Given the description of an element on the screen output the (x, y) to click on. 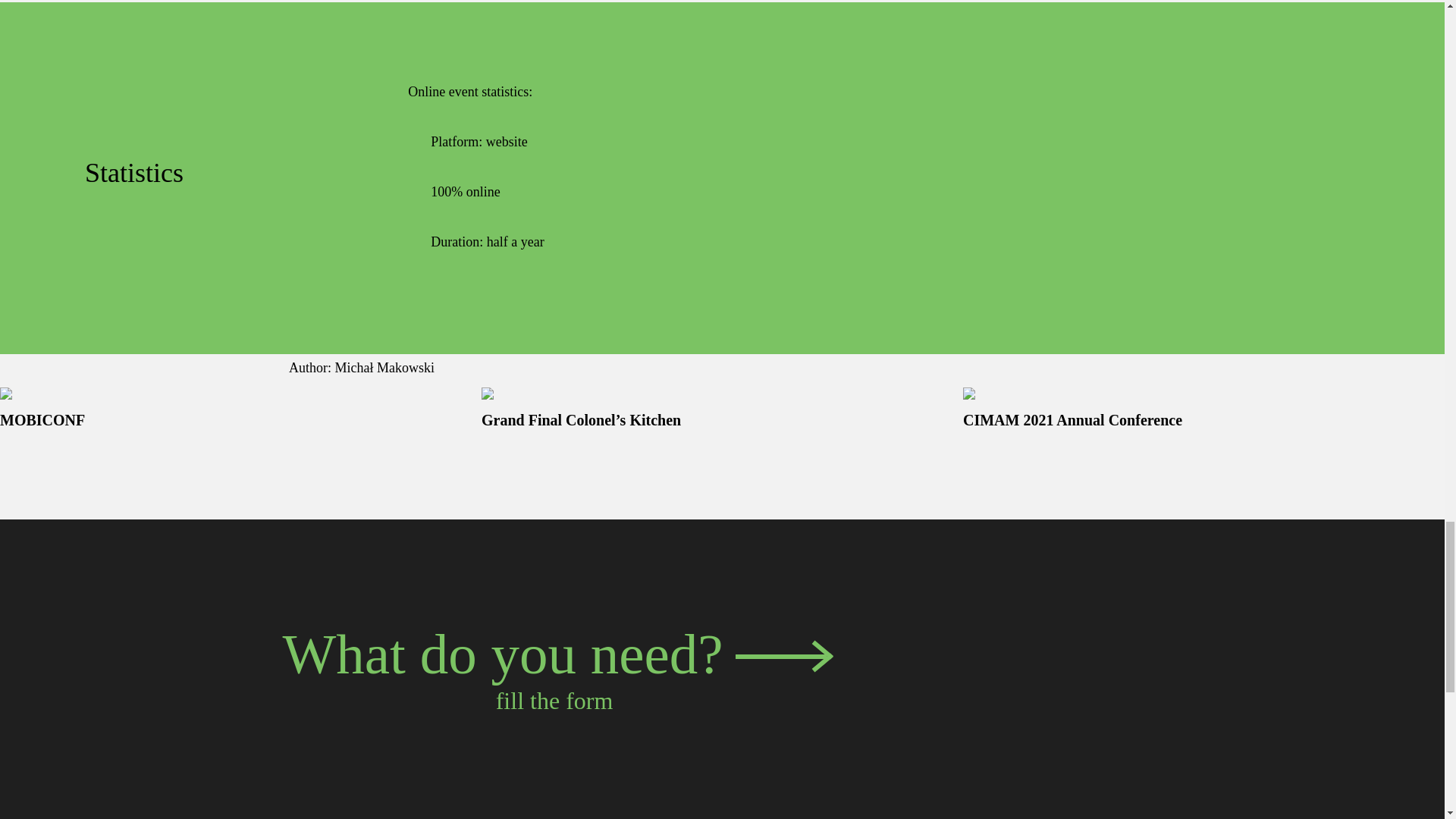
CIMAM 2021 Annual Conference (1072, 419)
MOBICONF (42, 419)
